Given the description of an element on the screen output the (x, y) to click on. 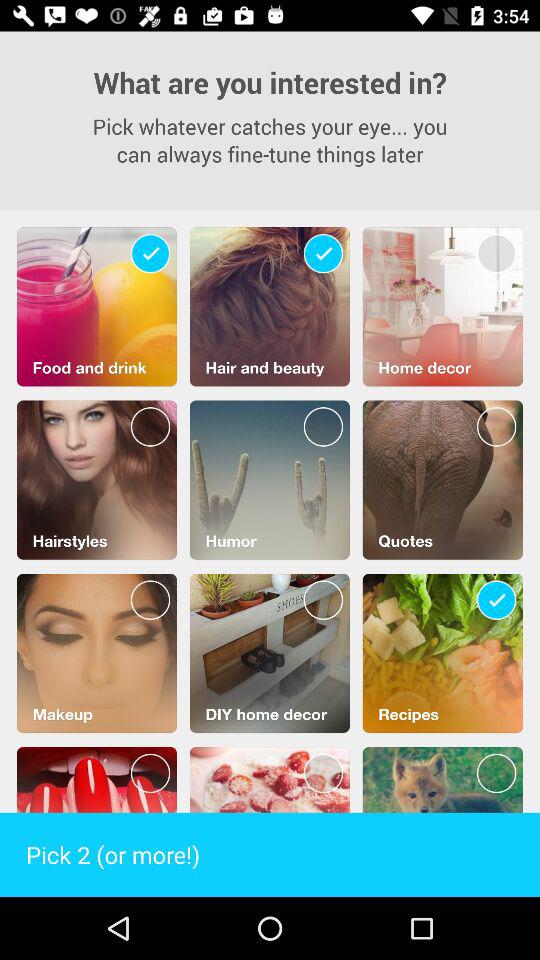
click the pick 2 or (270, 854)
